Given the description of an element on the screen output the (x, y) to click on. 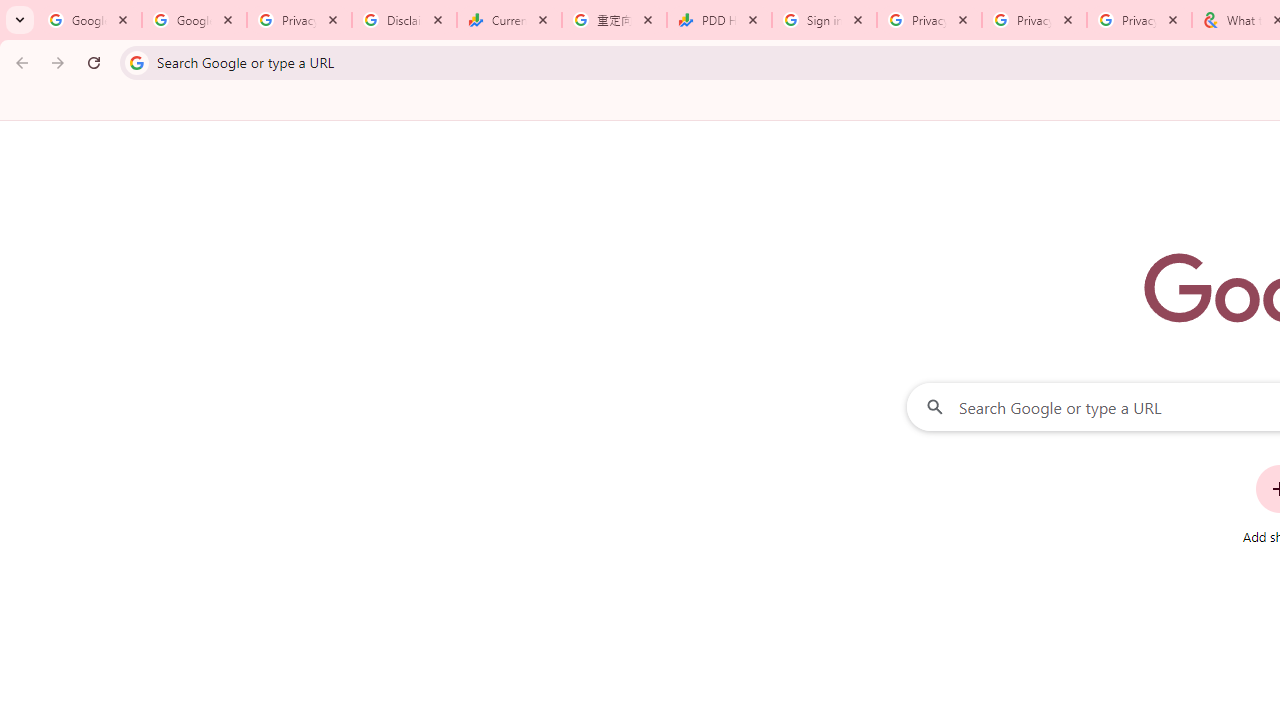
Privacy Checkup (1138, 20)
Sign in - Google Accounts (823, 20)
Google Workspace Admin Community (89, 20)
Privacy Checkup (1033, 20)
